Given the description of an element on the screen output the (x, y) to click on. 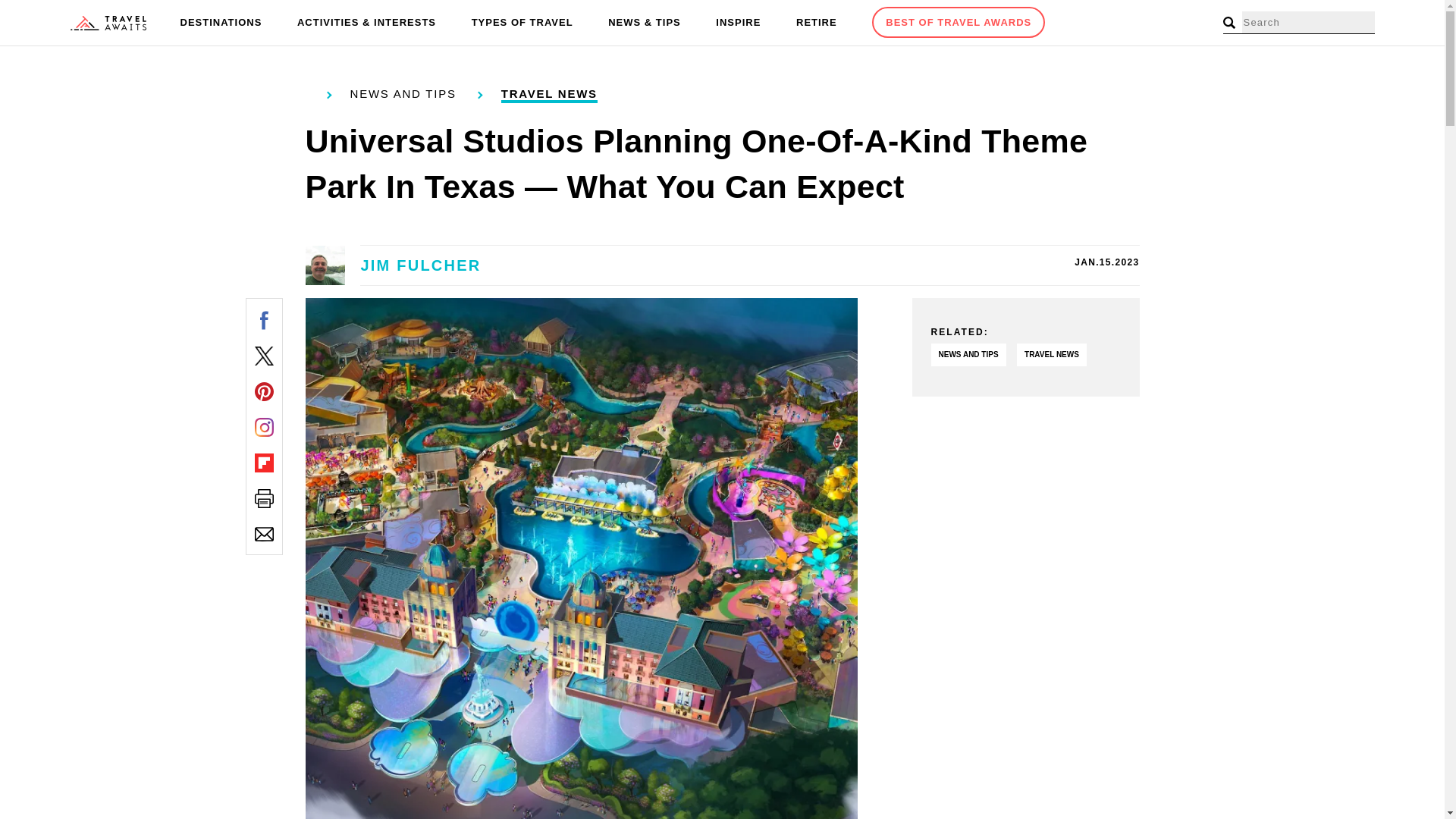
Facebook (263, 320)
TravelAwaits (107, 22)
Print (263, 497)
TYPES OF TRAVEL (522, 22)
DESTINATIONS (221, 22)
Flipboard (263, 462)
Twitter (263, 355)
Instagram (263, 426)
Email (263, 533)
